Given the description of an element on the screen output the (x, y) to click on. 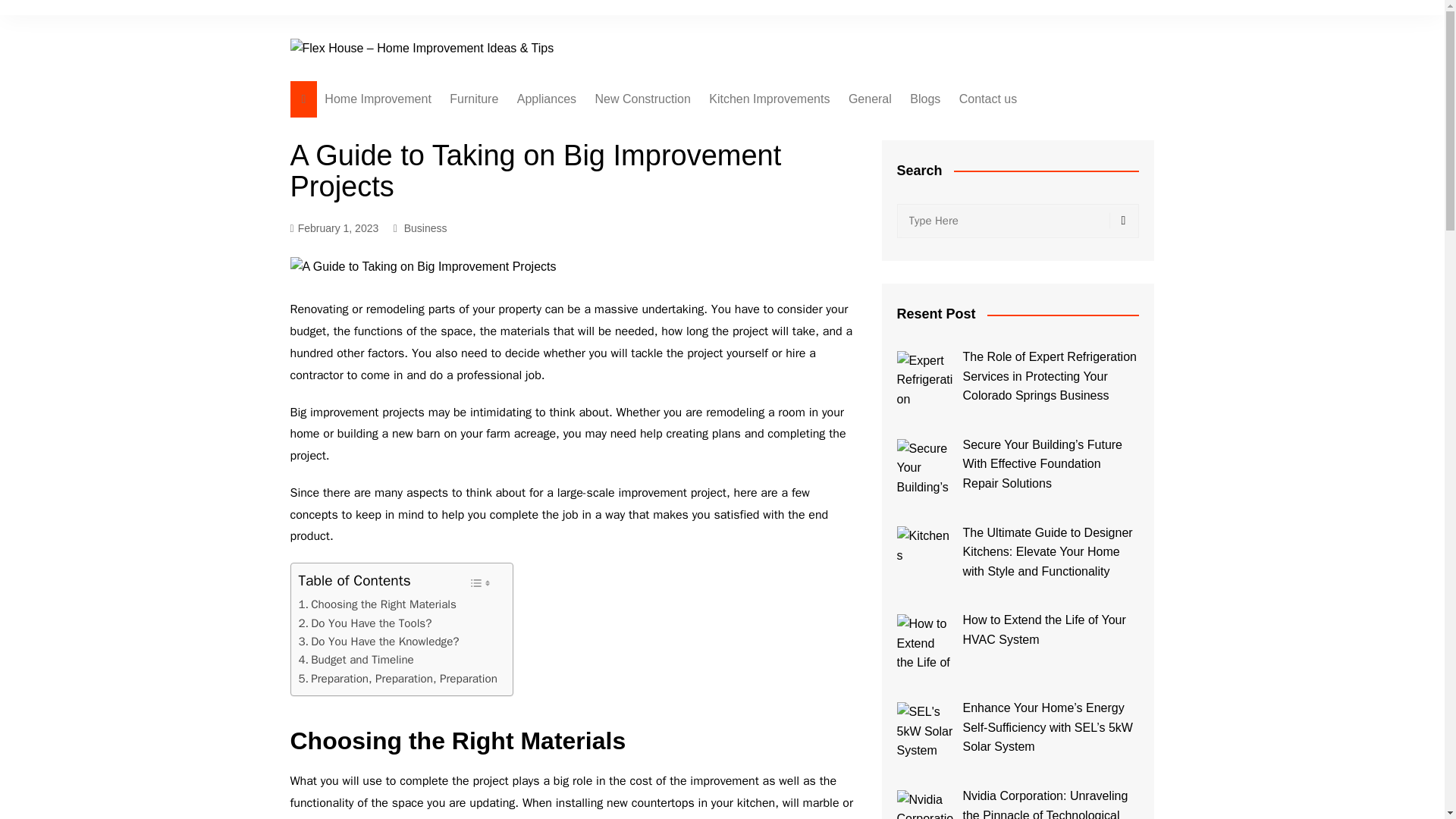
Budget and Timeline (355, 659)
Moving (671, 267)
New Construction (643, 99)
Landscaping Outdoor Decorating (671, 161)
Expert Refrigeration Services (924, 379)
Heating and Air Conditioning (593, 136)
Do You Have the Tools? (365, 623)
How to Extend the Life of Your HVAC System (924, 642)
Budget and Timeline (355, 659)
